Given the description of an element on the screen output the (x, y) to click on. 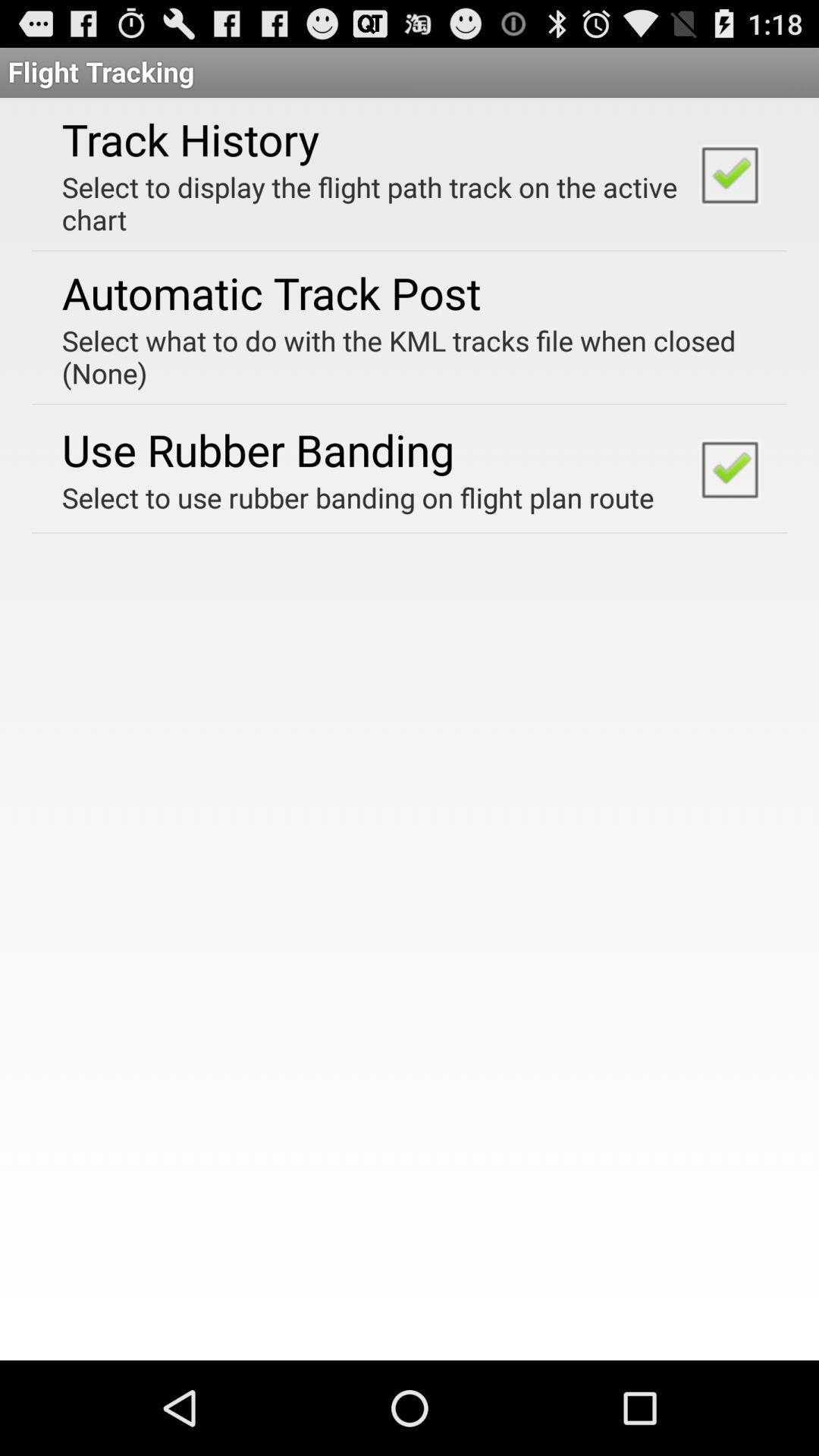
tap the item below select to display (271, 292)
